Given the description of an element on the screen output the (x, y) to click on. 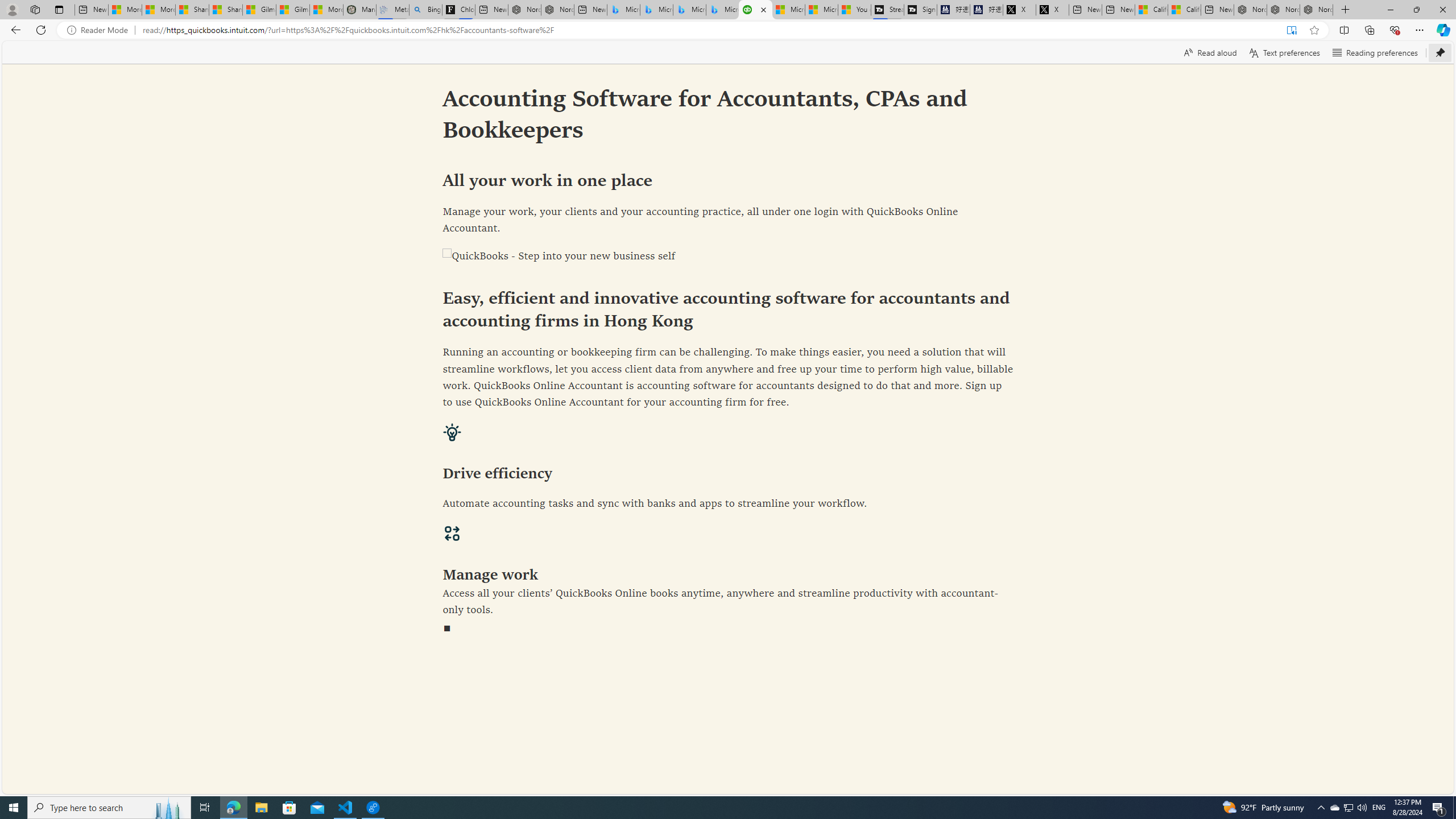
Reader Mode (100, 29)
Microsoft Bing Travel - Shangri-La Hotel Bangkok (722, 9)
Reading preferences (1374, 52)
Nordace Siena Pro 15 Backpack (1283, 9)
Nordace - Siena Pro 15 Essential Set (1316, 9)
